Given the description of an element on the screen output the (x, y) to click on. 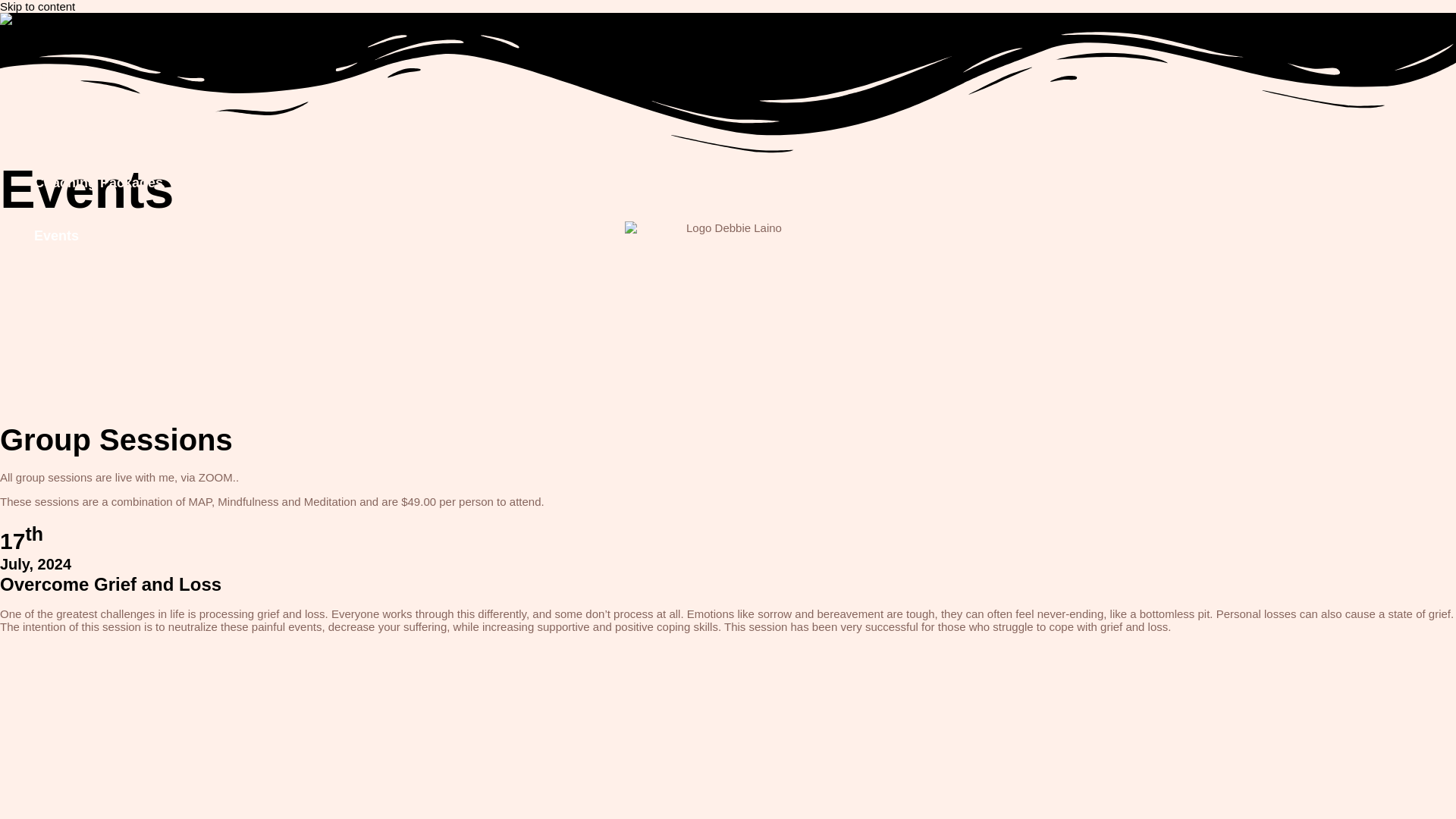
Home (100, 76)
About Me (100, 129)
Skip to content (37, 6)
Events (100, 235)
Skip to content (37, 6)
Blog (100, 288)
Coaching Packages (100, 182)
Contact Me (100, 341)
